Given the description of an element on the screen output the (x, y) to click on. 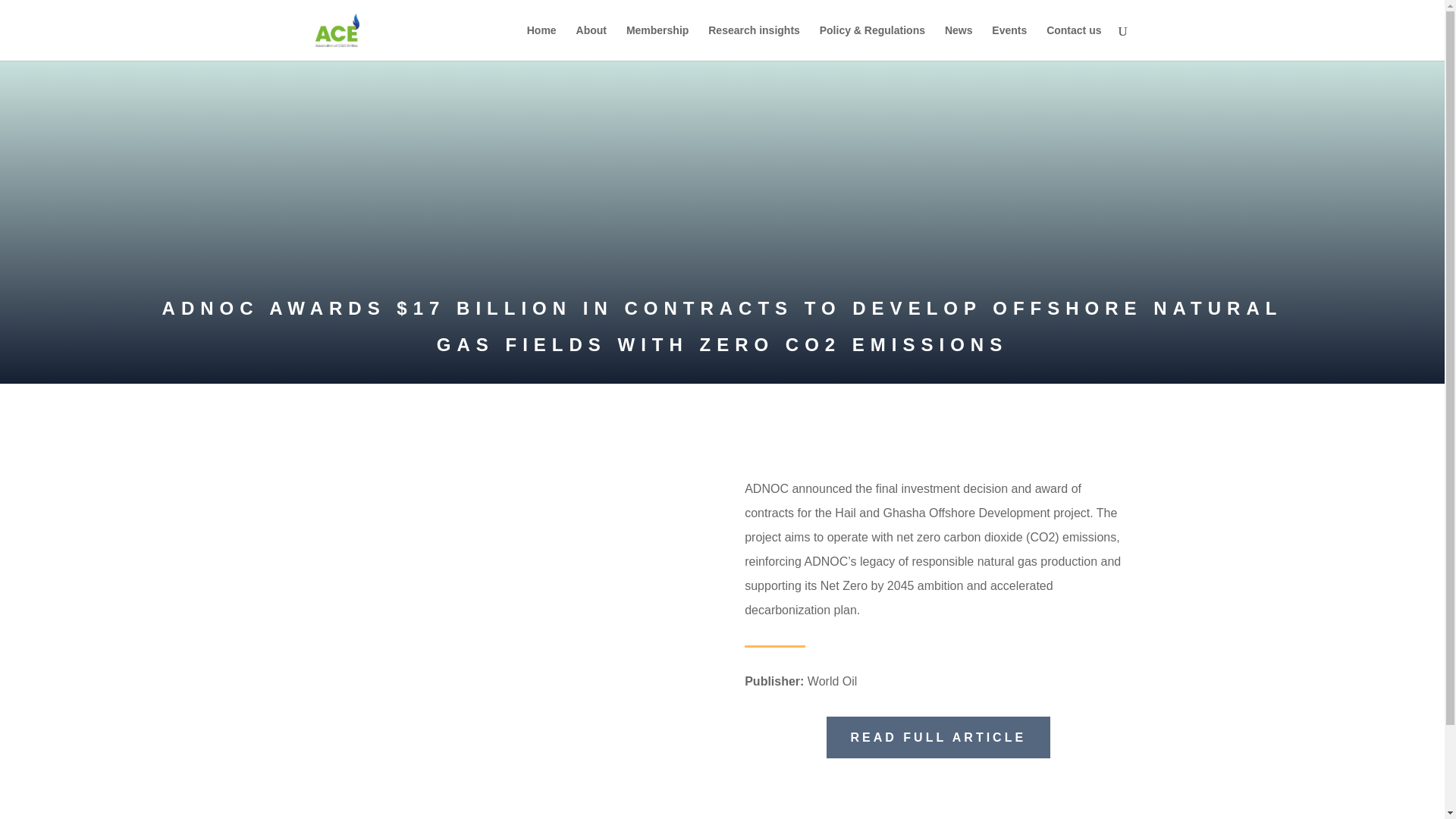
Membership (657, 42)
Research insights (753, 42)
Contact us (1073, 42)
Events (1008, 42)
READ FULL ARTICLE (939, 737)
